Given the description of an element on the screen output the (x, y) to click on. 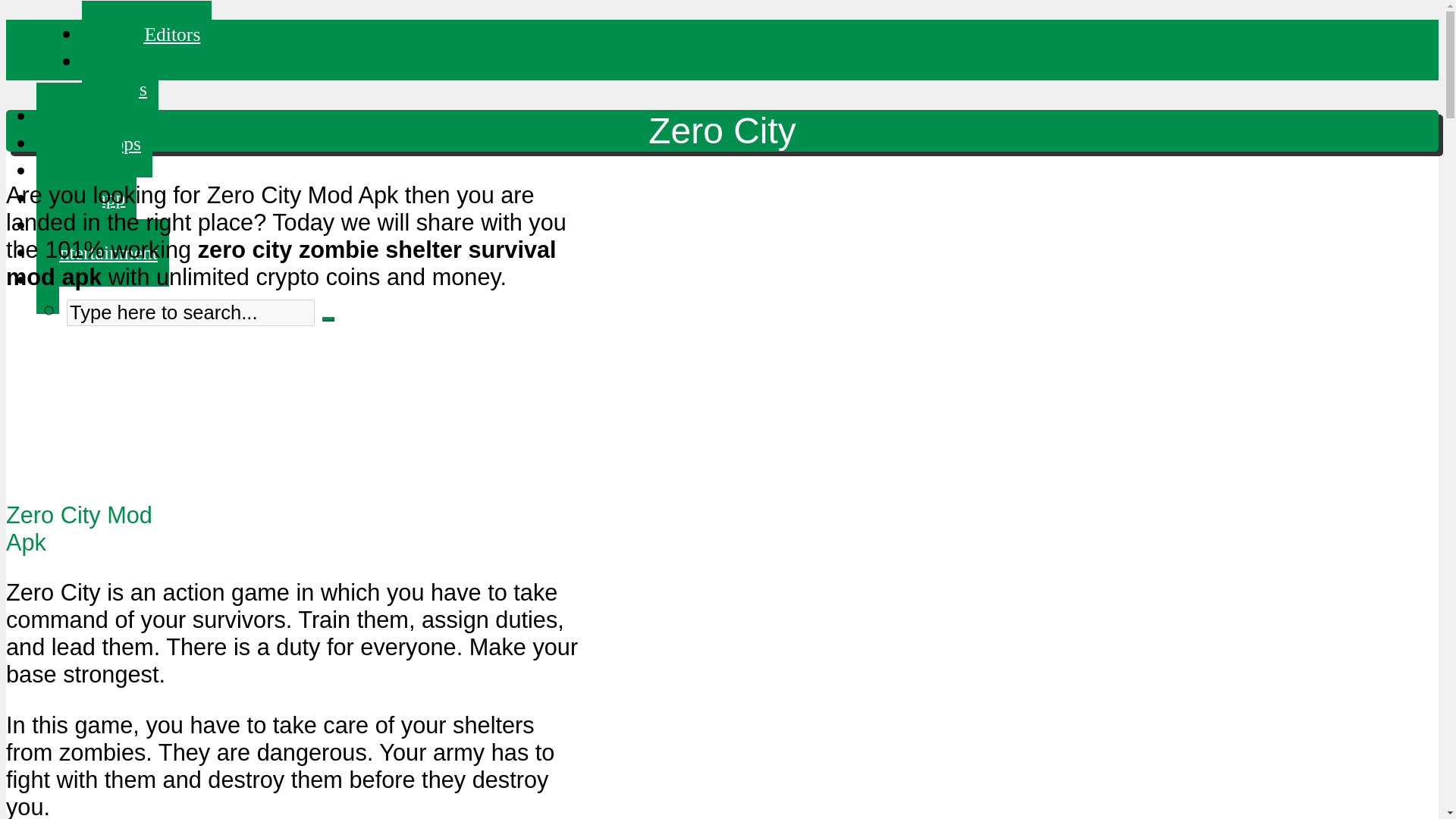
TV App (79, 170)
Tools (68, 225)
Video Editors (146, 33)
Whatsapp (86, 197)
Emulators (87, 115)
Type here to search... (190, 312)
Music Apps (94, 143)
Games (119, 88)
Entertainment (102, 252)
VPN (111, 61)
Type here to search... (190, 312)
